Given the description of an element on the screen output the (x, y) to click on. 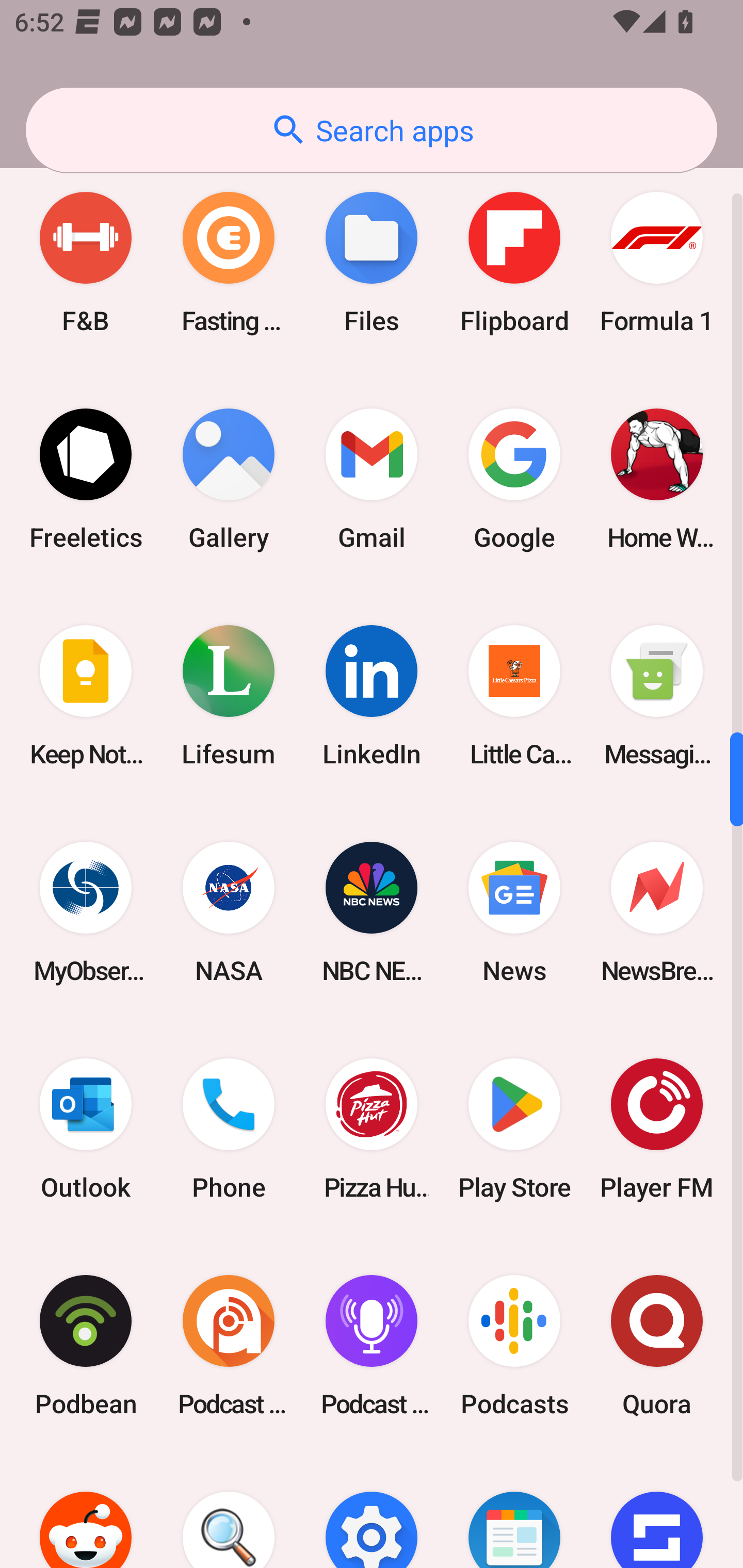
  Search apps (371, 130)
F&B (85, 262)
Fasting Coach (228, 262)
Files (371, 262)
Flipboard (514, 262)
Formula 1 (656, 262)
Freeletics (85, 479)
Gallery (228, 479)
Gmail (371, 479)
Google (514, 479)
Home Workout (656, 479)
Keep Notes (85, 696)
Lifesum (228, 696)
LinkedIn (371, 696)
Little Caesars Pizza (514, 696)
Messaging (656, 696)
MyObservatory (85, 912)
NASA (228, 912)
NBC NEWS (371, 912)
News (514, 912)
NewsBreak (656, 912)
Outlook (85, 1128)
Phone (228, 1128)
Pizza Hut HK & Macau (371, 1128)
Play Store (514, 1128)
Player FM (656, 1128)
Podbean (85, 1345)
Podcast Addict (228, 1345)
Podcast Player (371, 1345)
Podcasts (514, 1345)
Quora (656, 1345)
